Given the description of an element on the screen output the (x, y) to click on. 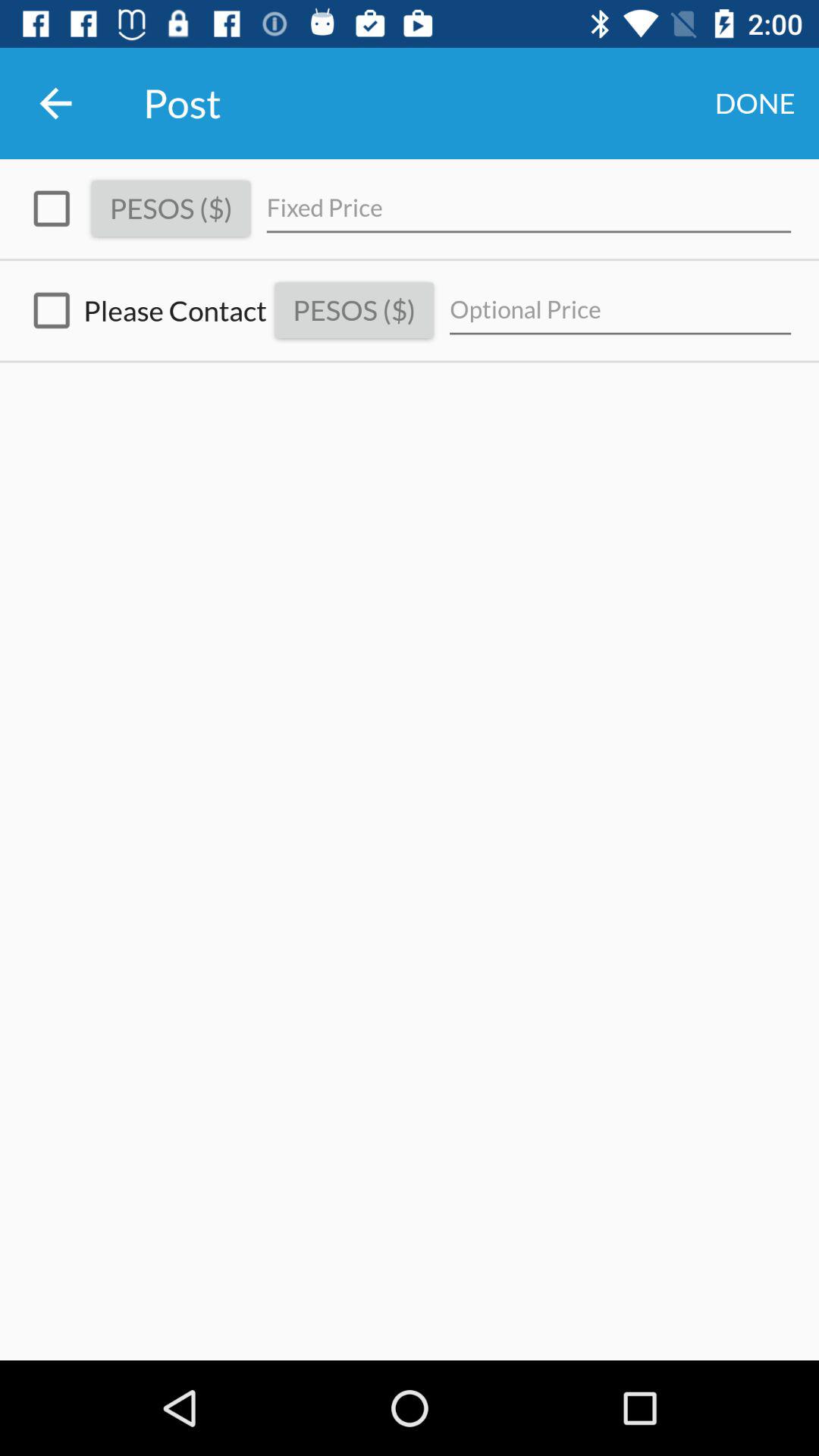
turn on icon below the done (528, 208)
